Given the description of an element on the screen output the (x, y) to click on. 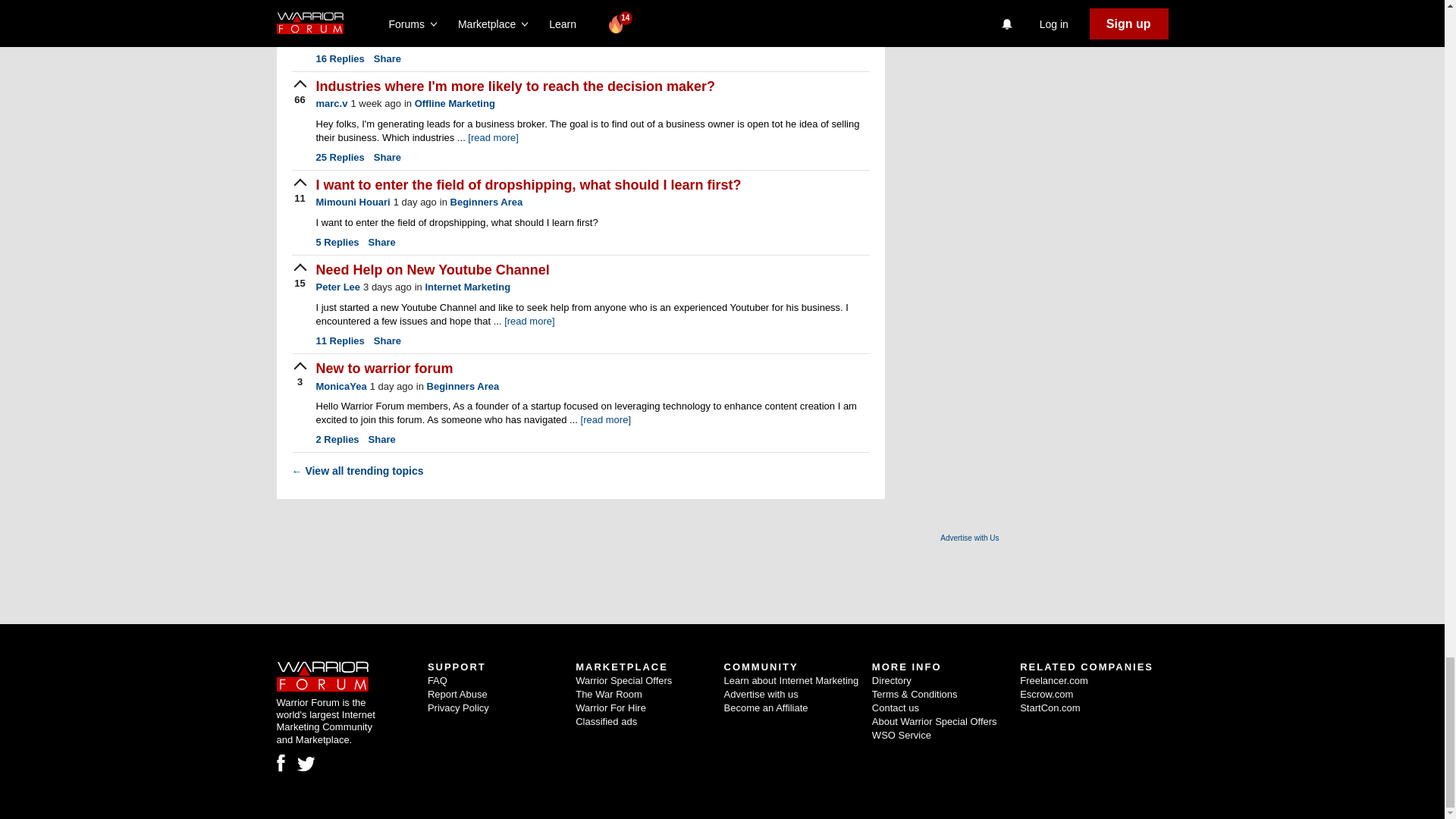
Bird (306, 764)
Warrior Forum on Twitter (306, 764)
